Given the description of an element on the screen output the (x, y) to click on. 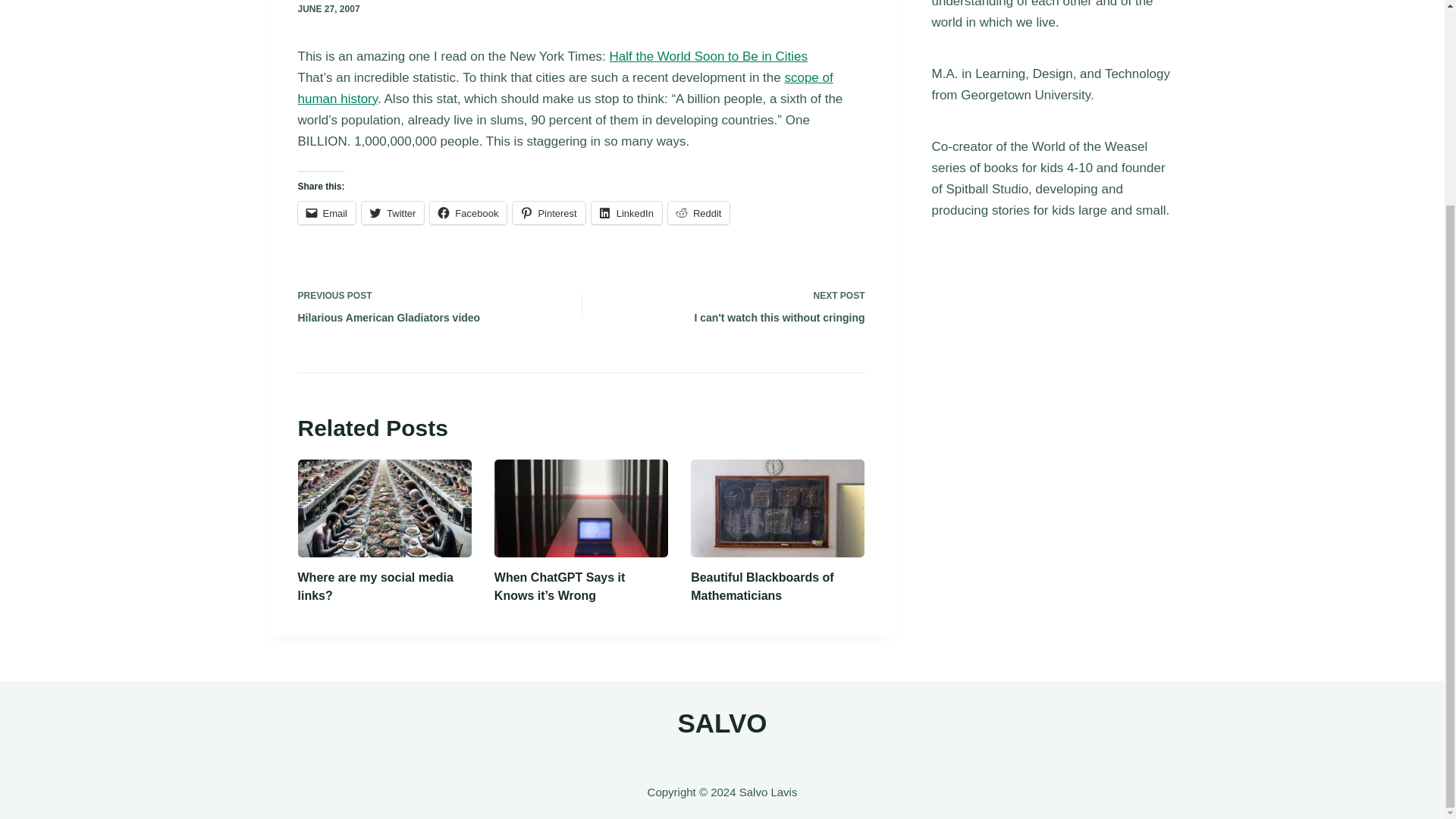
Beautiful Blackboards of Mathematicians (761, 585)
World of the Weasel (1089, 146)
Click to share on Reddit (699, 212)
Learning, Design, and Technology (1072, 73)
Where are my social media links? (734, 305)
scope of human history (374, 585)
Click to share on Facebook (564, 88)
Reddit (467, 212)
Spitball Studio (699, 212)
LinkedIn (985, 188)
Click to share on LinkedIn (626, 212)
Click to share on Pinterest (626, 212)
Click to email a link to a friend (548, 212)
